Given the description of an element on the screen output the (x, y) to click on. 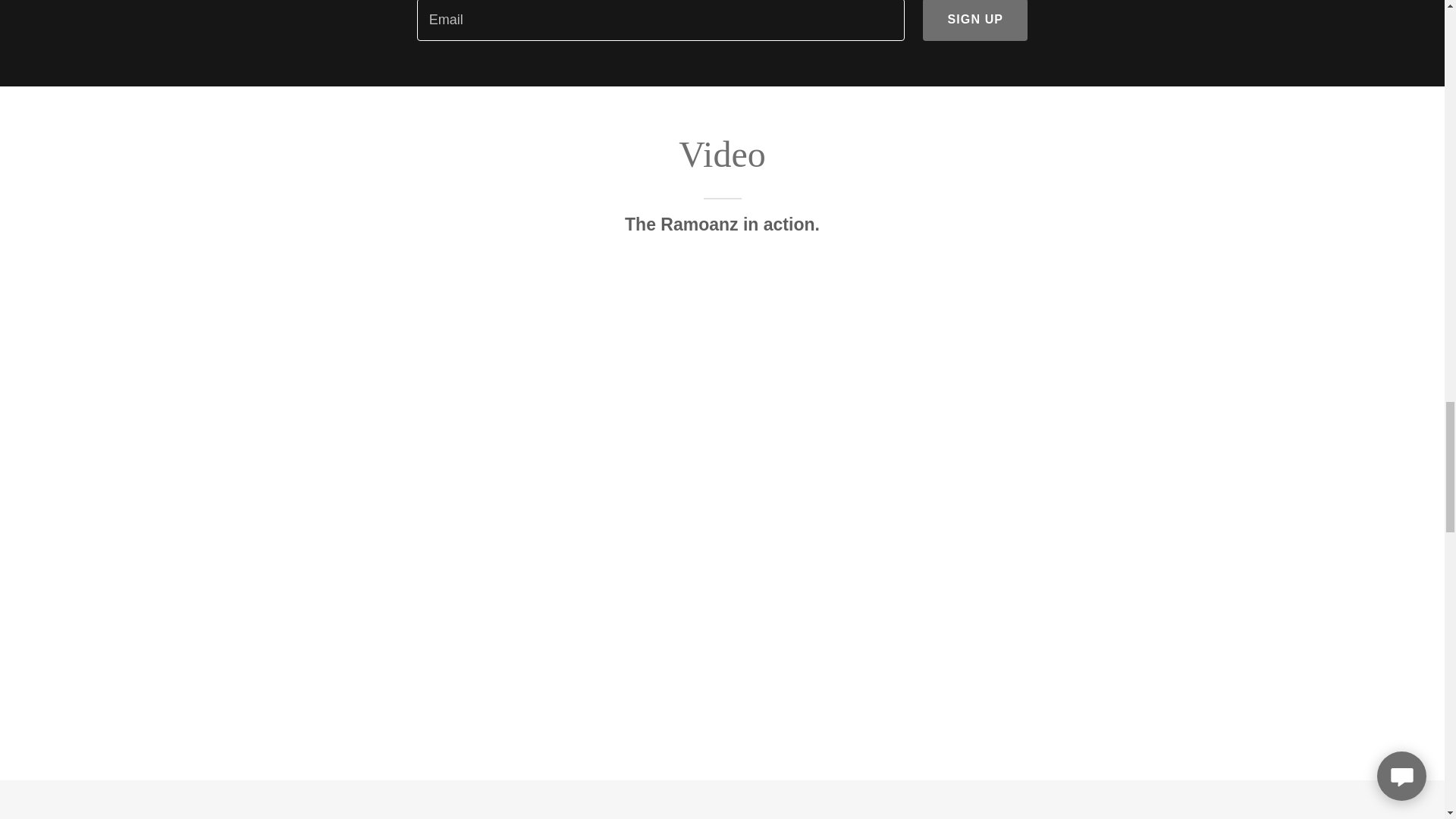
SIGN UP (975, 20)
